Given the description of an element on the screen output the (x, y) to click on. 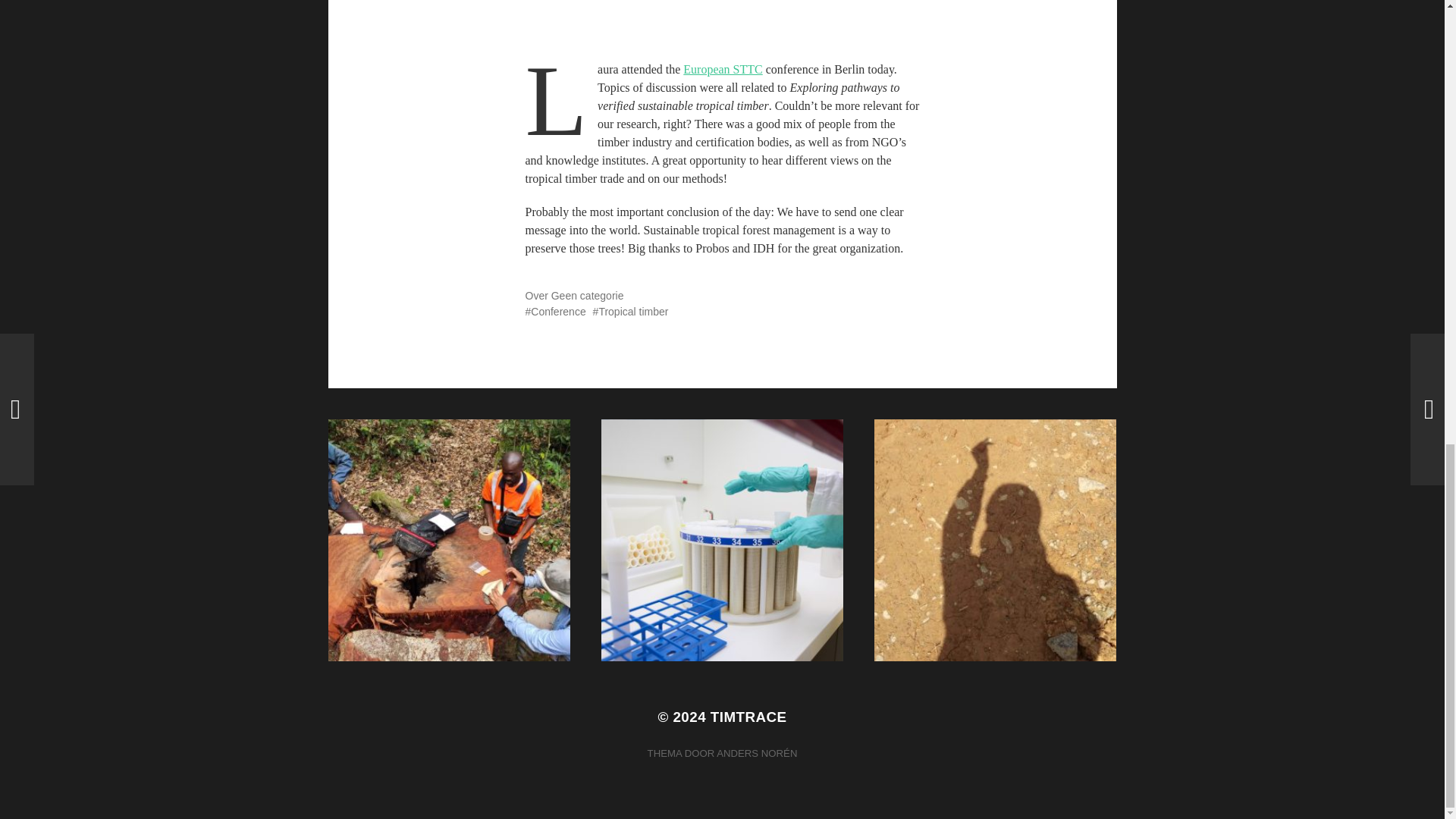
Geen categorie (587, 295)
Tropical timber (630, 311)
European STTC (721, 69)
Conference (554, 311)
TIMTRACE (748, 716)
